Given the description of an element on the screen output the (x, y) to click on. 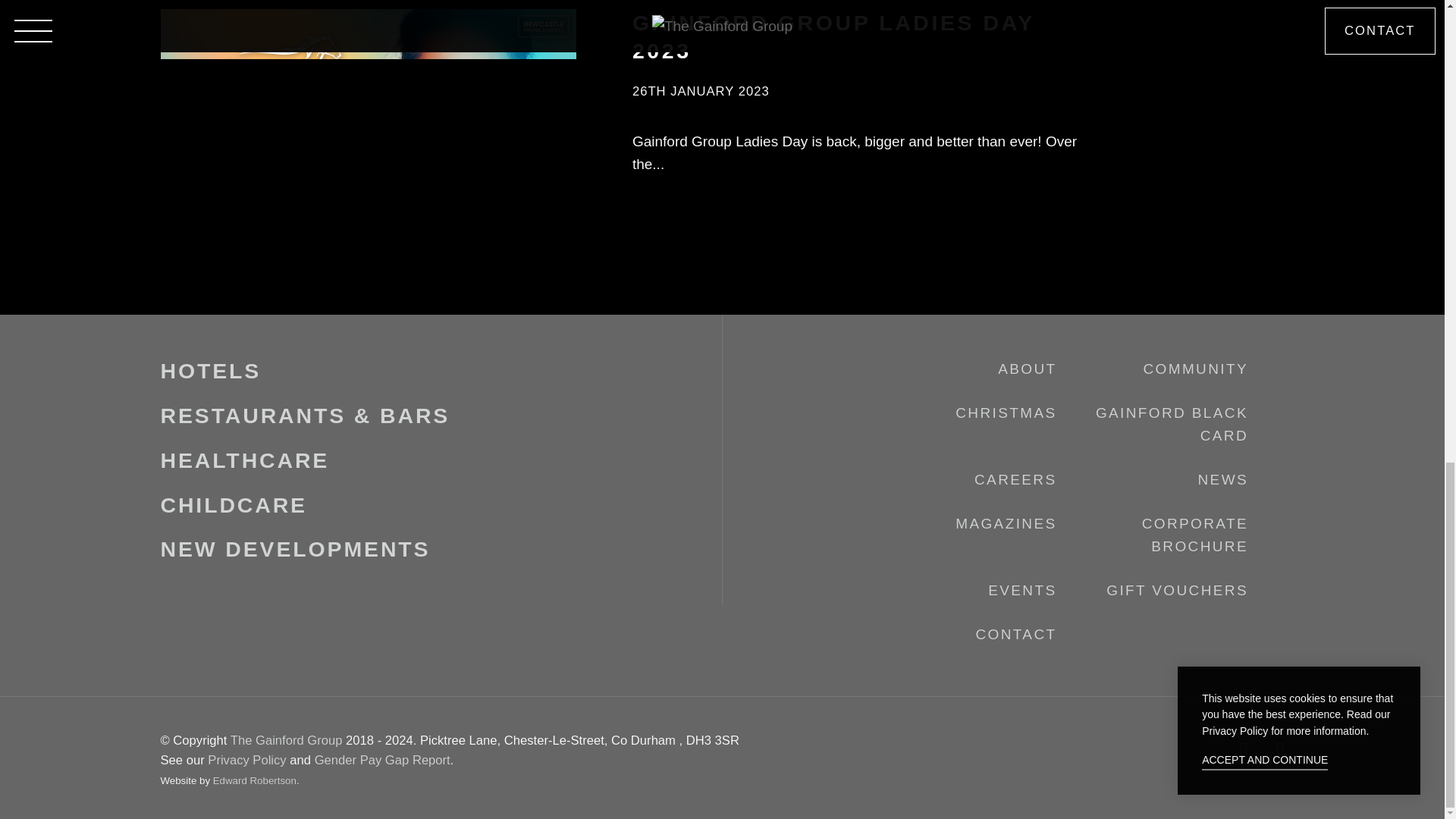
NEWS (1223, 479)
EVENTS (1022, 590)
ABOUT (1027, 368)
CHILDCARE (233, 504)
CORPORATE BROCHURE (1194, 534)
MAGAZINES (1006, 523)
HEALTHCARE (245, 459)
COMMUNITY (1194, 368)
CAREERS (1015, 479)
HOTELS (211, 370)
NEW DEVELOPMENTS (295, 549)
GAINFORD BLACK CARD (1171, 423)
CHRISTMAS (1006, 412)
